Given the description of an element on the screen output the (x, y) to click on. 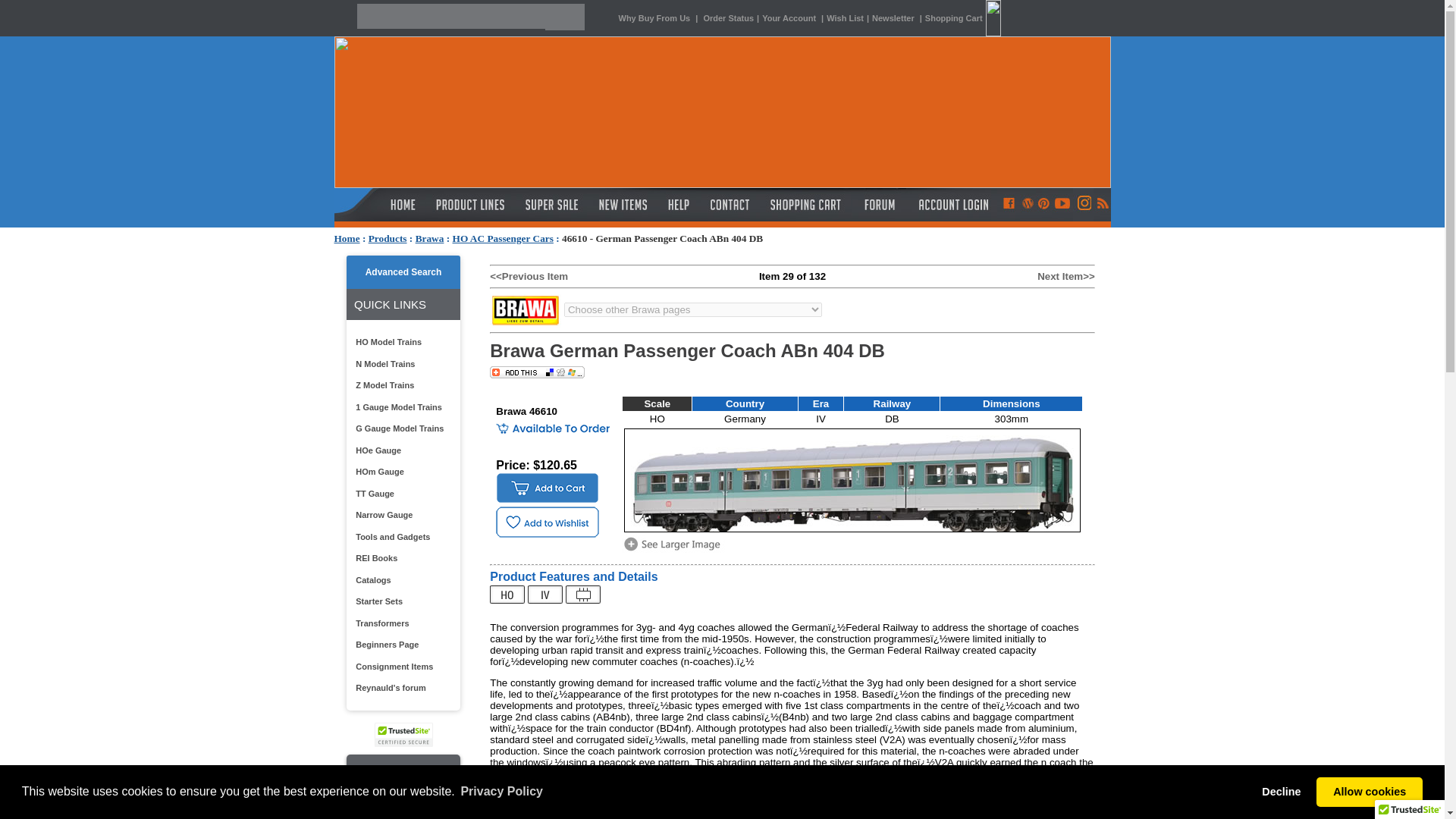
Home (346, 238)
N Model Trains (400, 363)
Shopping Cart (805, 204)
HOm Gauge (400, 472)
TT Gauge (400, 493)
1 Gauge Model Trains (400, 406)
Help (680, 204)
HO Model Trains (400, 341)
Shopping Cart (964, 17)
Wish List (845, 17)
Brawa (429, 238)
Home (346, 238)
Contact (729, 204)
Order Status (728, 17)
HOe Gauge (400, 450)
